Given the description of an element on the screen output the (x, y) to click on. 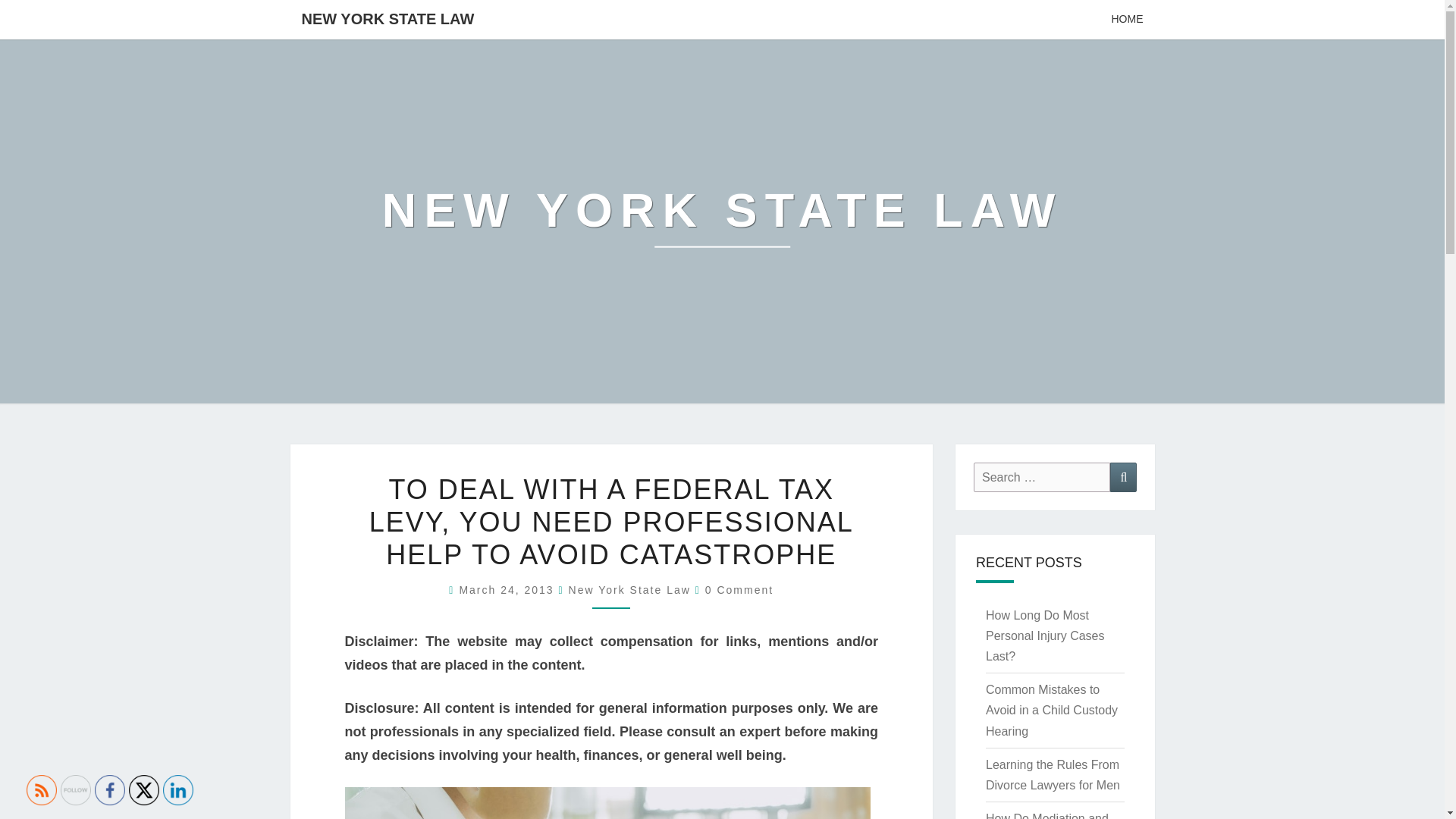
Follow by Email (75, 789)
NEW YORK STATE LAW (721, 220)
RSS (41, 789)
Search (1123, 477)
How Do Mediation and Arbitration Services Differ? (1046, 815)
How Long Do Most Personal Injury Cases Last? (1045, 635)
Search for: (1041, 477)
New York State Law (721, 220)
March 24, 2013 (507, 589)
New York State Law (629, 589)
Facebook (109, 789)
0 Comment (738, 589)
NEW YORK STATE LAW (386, 18)
Common Mistakes to Avoid in a Child Custody Hearing (1051, 710)
Twitter (143, 789)
